Given the description of an element on the screen output the (x, y) to click on. 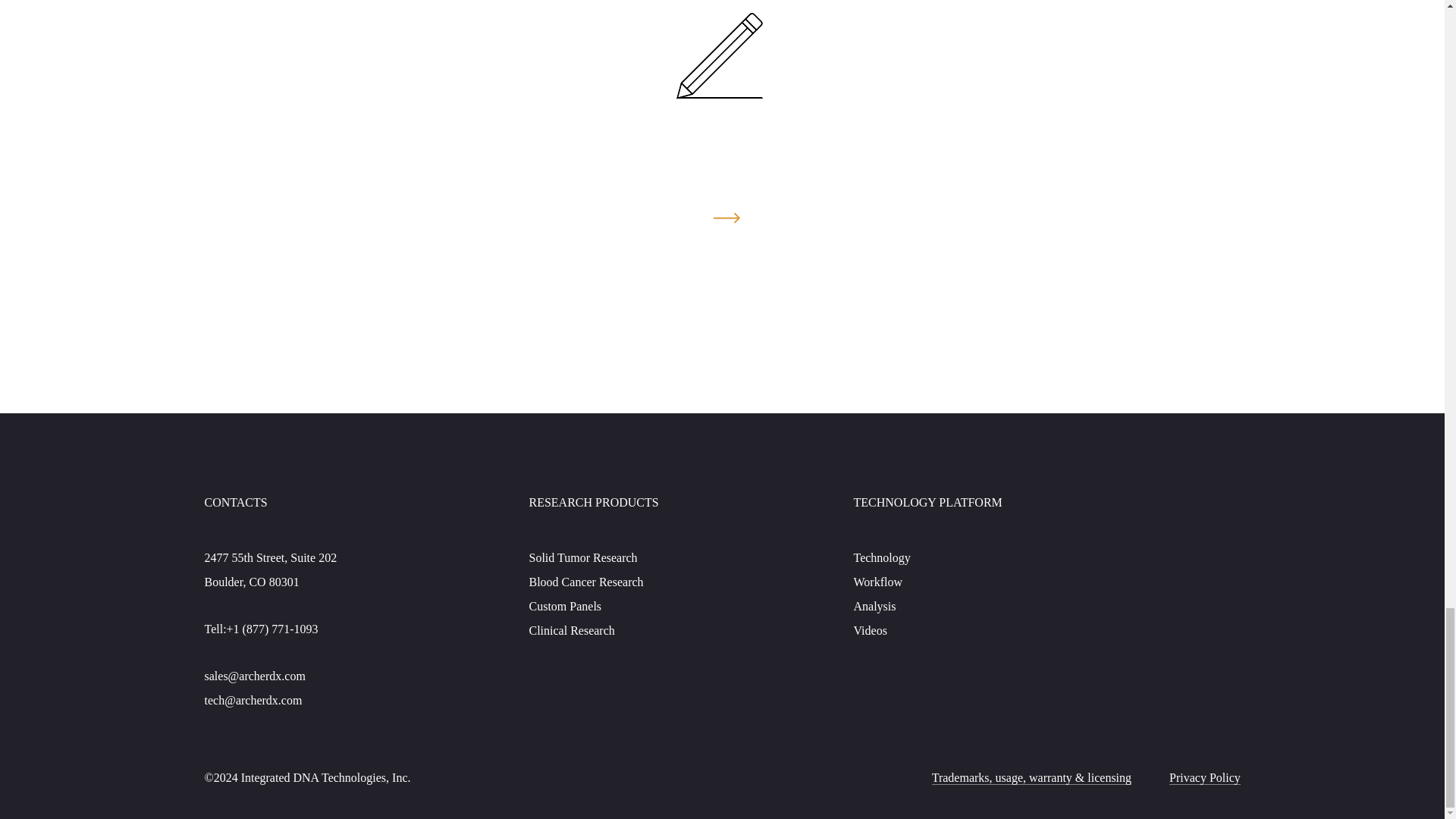
Custom Panels (565, 604)
Solid Tumor Research (583, 556)
RESEARCH PRODUCTS (594, 502)
Technology (882, 556)
Privacy Policy (1204, 776)
CONTACTS (236, 502)
Videos (869, 629)
Workflow (877, 581)
Analysis (874, 604)
Clinical Research (571, 629)
